Given the description of an element on the screen output the (x, y) to click on. 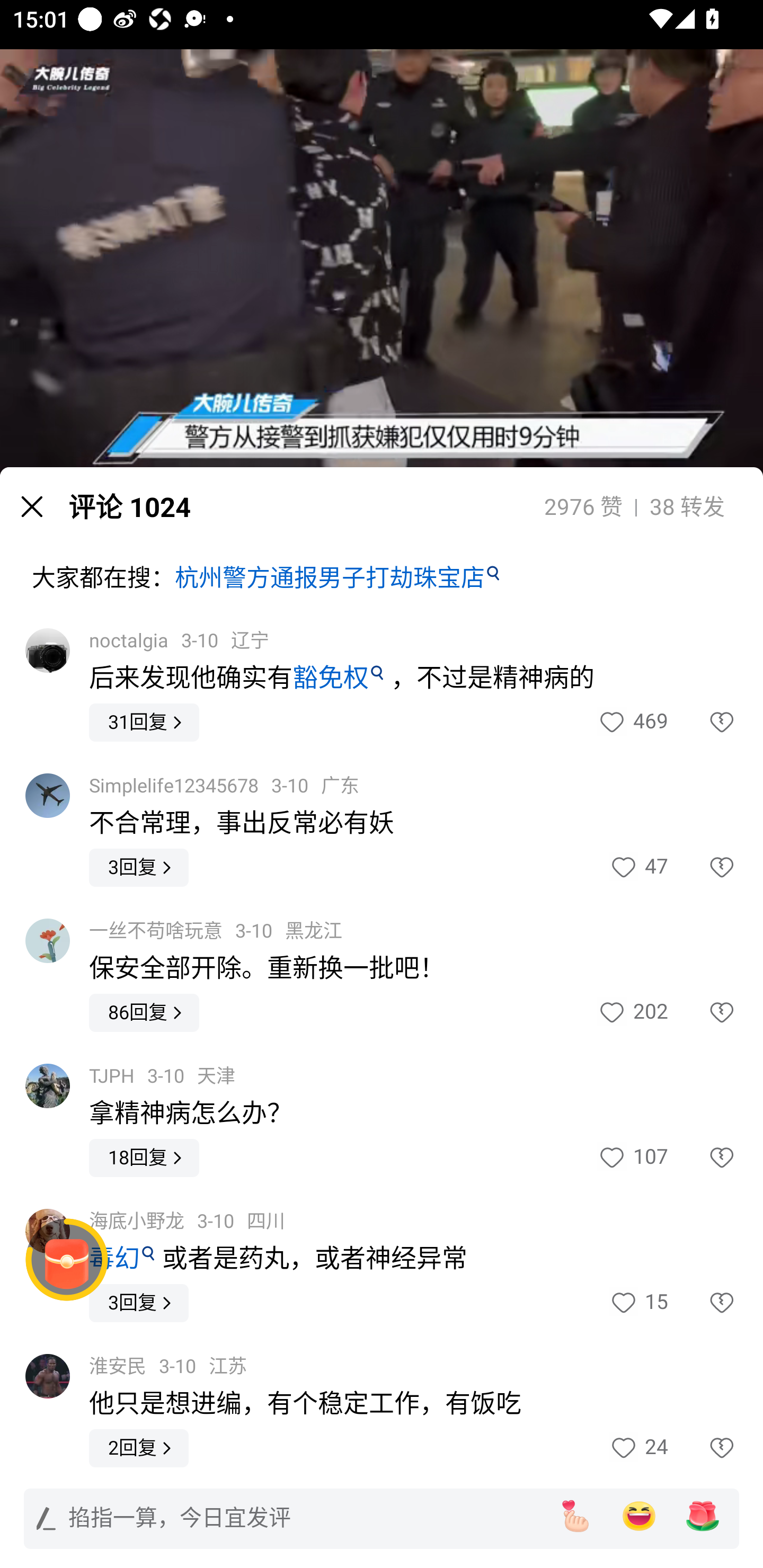
关闭 (31, 506)
noctalgia 3-10 辽宁 (179, 641)
31回复 (144, 722)
赞469 赞 (631, 722)
踩 (702, 722)
Simplelife12345678 3-10 广东 (224, 785)
3回复 (138, 867)
赞47 赞 (637, 867)
踩 (702, 867)
一丝不苟啥玩意 3-10 黑龙江 (215, 931)
86回复 (144, 1012)
赞202 赞 (631, 1012)
踩 (702, 1012)
TJPH 3-10 天津 (162, 1076)
18回复 (144, 1157)
赞107 赞 (631, 1157)
踩 (702, 1157)
海底小野龙 3-10 四川 (187, 1221)
阅读赚金币 (66, 1259)
3回复 (138, 1302)
赞15 赞 (637, 1302)
踩 (702, 1302)
淮安民 3-10 江苏 (168, 1367)
2回复 (138, 1447)
赞24 赞 (637, 1448)
踩 (702, 1448)
掐指一算，今日宜发评 [比心] [大笑] [玫瑰] (381, 1518)
[比心] (574, 1516)
[大笑] (638, 1516)
[玫瑰] (702, 1516)
